Given the description of an element on the screen output the (x, y) to click on. 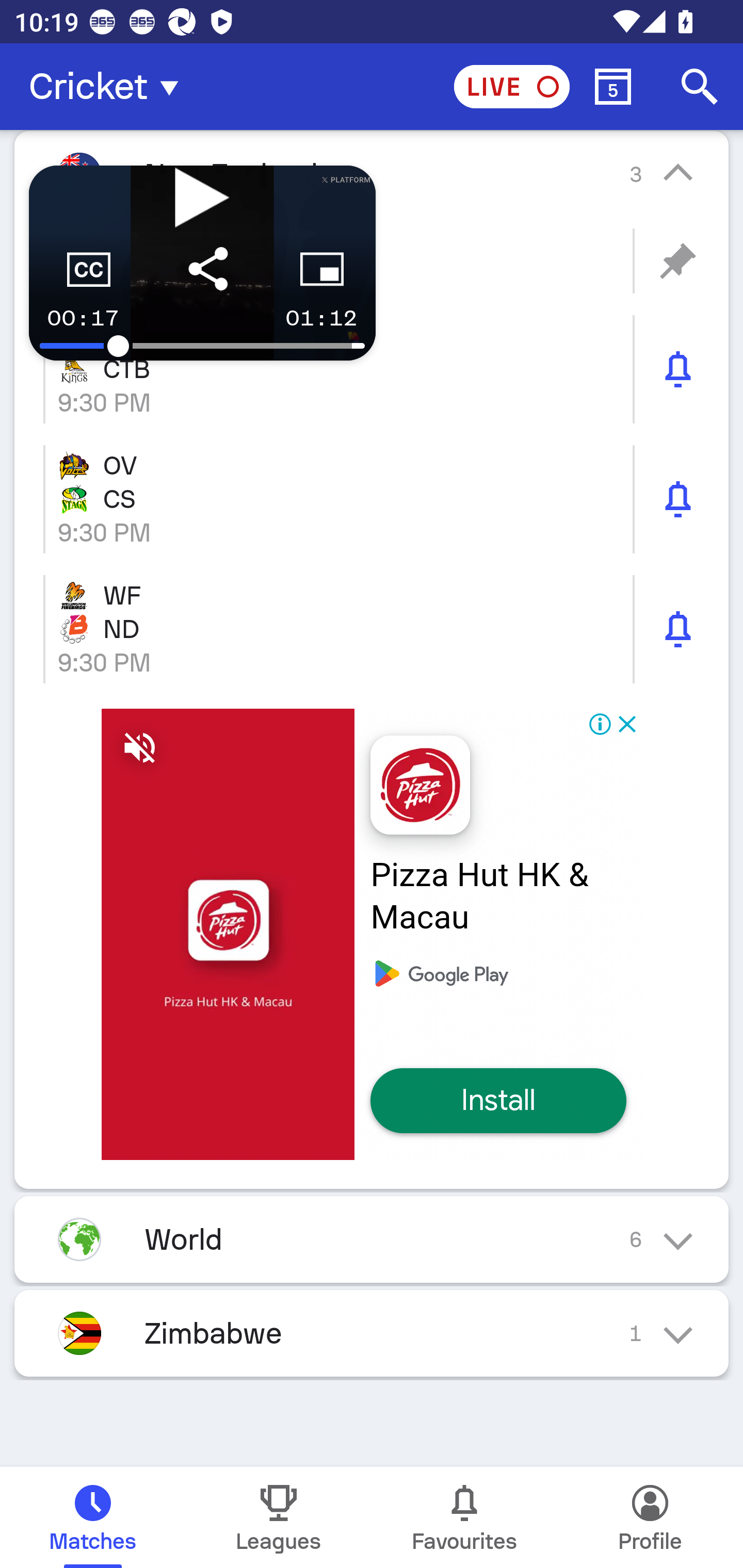
Cricket (109, 86)
Calendar (612, 86)
Search (699, 86)
OV CS 9:30 PM (371, 499)
WF ND 9:30 PM (371, 629)
Pizza Hut HK &
Macau Install Install (371, 934)
Install (498, 1101)
World 6 (371, 1239)
Zimbabwe 1 (371, 1333)
Leagues (278, 1517)
Favourites (464, 1517)
Profile (650, 1517)
